Given the description of an element on the screen output the (x, y) to click on. 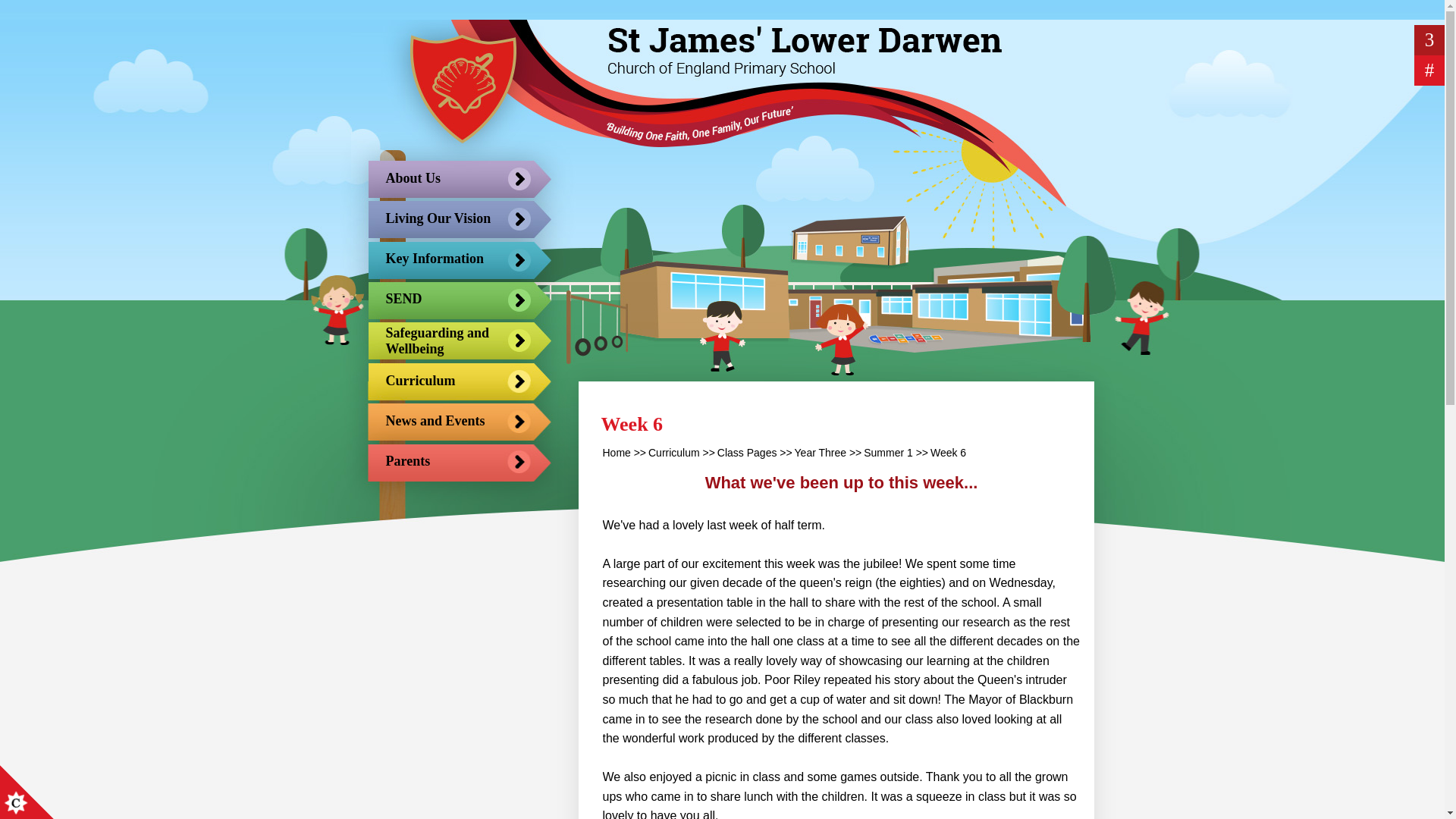
Home Page (461, 87)
Curriculum (673, 452)
Summer 1 (887, 452)
Week 6 (948, 452)
Class Pages (747, 452)
Year Three (820, 452)
Living Our Vision (441, 219)
About Us (441, 179)
Home (616, 452)
Home Page (461, 87)
